Given the description of an element on the screen output the (x, y) to click on. 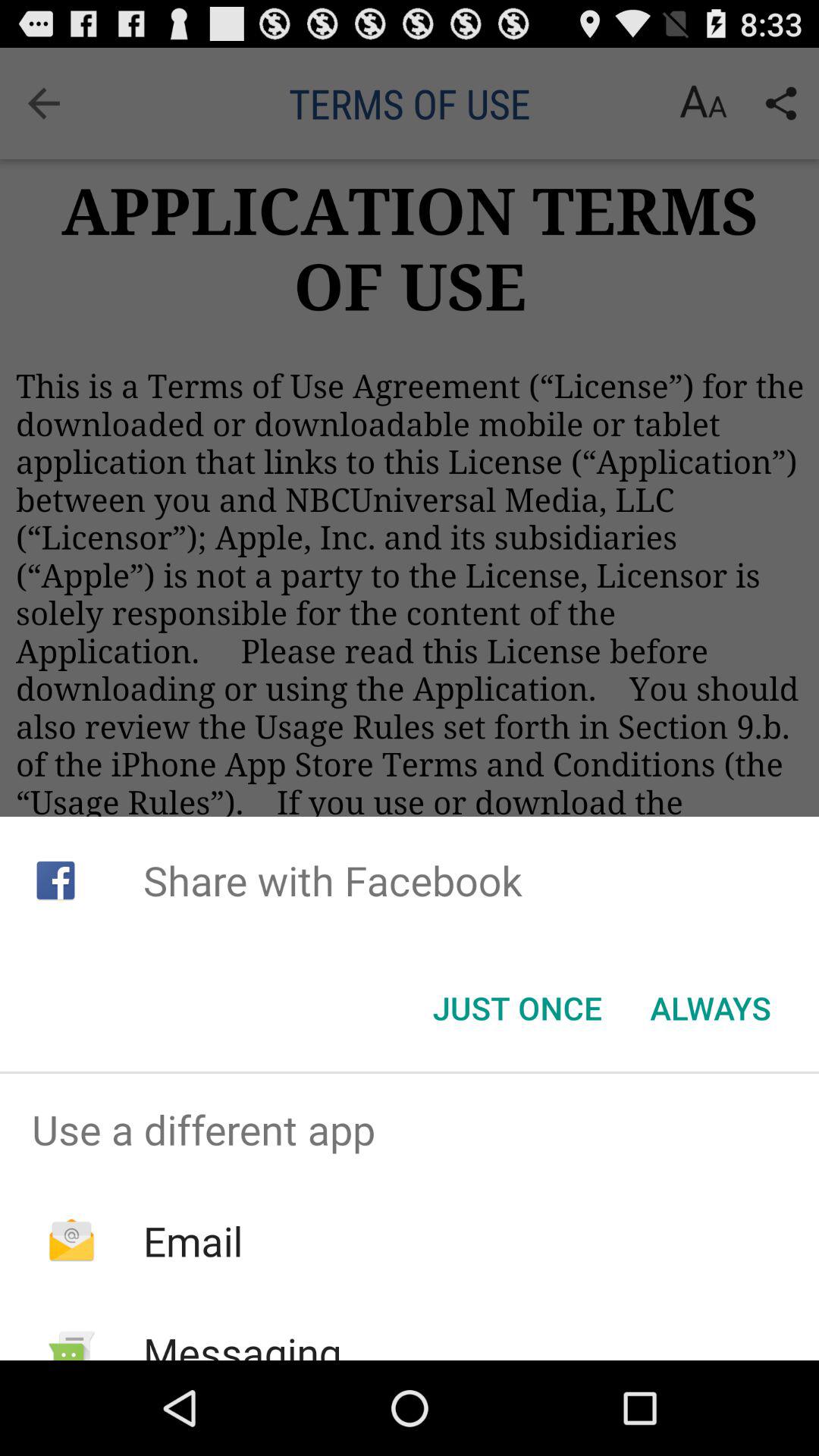
swipe until the messaging icon (242, 1342)
